Given the description of an element on the screen output the (x, y) to click on. 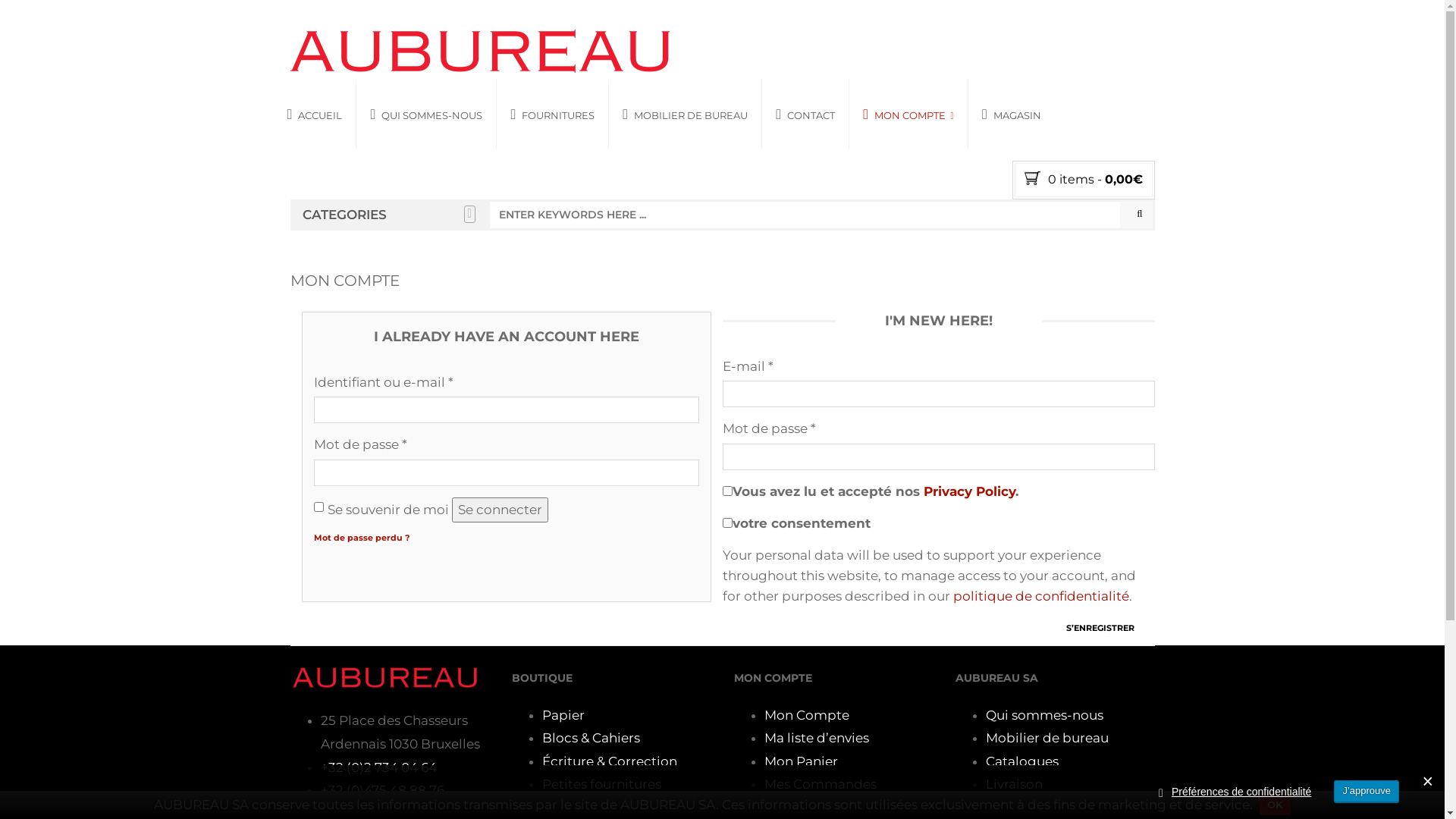
Mes Commandes Element type: text (820, 783)
Connexion Element type: text (798, 807)
Privacy Policy Element type: text (969, 490)
FOURNITURES Element type: text (552, 113)
MAGASIN Element type: text (1011, 113)
Se connecter Element type: text (499, 509)
Petites fournitures Element type: text (601, 783)
+32 (0)475 48 88 76 Element type: text (381, 789)
OK Element type: text (1274, 804)
Livraison Element type: text (1013, 783)
CONTACT Element type: text (805, 113)
MOBILIER DE BUREAU Element type: text (684, 113)
Mon Panier Element type: text (800, 760)
Search Element type: text (1135, 214)
Papier Element type: text (563, 714)
+32 (0)2 734 04 64 Element type: text (378, 767)
Qui sommes-nous Element type: text (1044, 714)
ACCUEIL Element type: text (320, 113)
Catalogues Element type: text (1021, 760)
AUBUREAU Element type: hover (478, 50)
AUBUREAU Element type: hover (478, 49)
Mon Compte Element type: text (806, 714)
CATEGORIES Element type: text (387, 214)
MON COMPTE Element type: text (908, 113)
Mot de passe perdu ? Element type: text (361, 537)
Mobilier de bureau Element type: text (1046, 737)
Blocs & Cahiers Element type: text (591, 737)
Machines du bureau Element type: text (607, 807)
QUI SOMMES-NOUS Element type: text (425, 113)
